Given the description of an element on the screen output the (x, y) to click on. 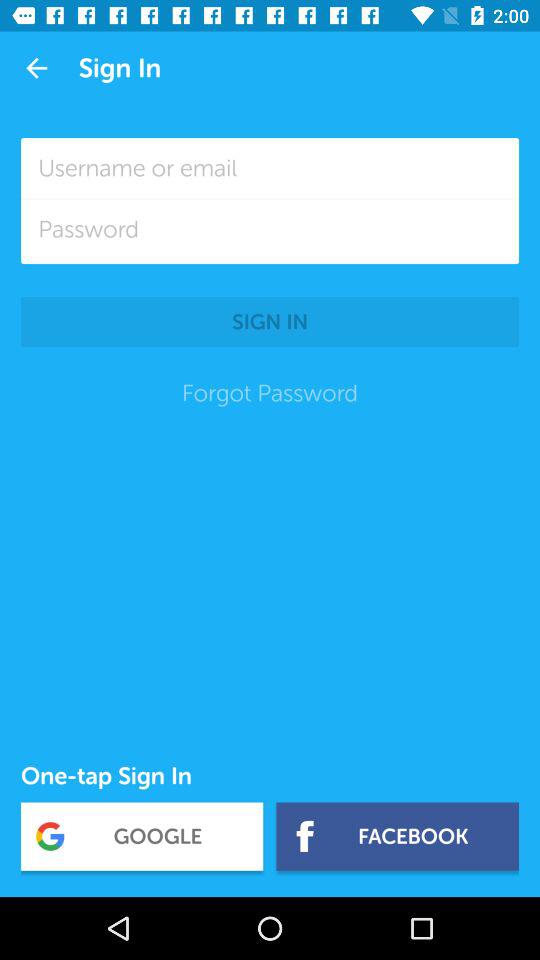
username or email input box (270, 168)
